Given the description of an element on the screen output the (x, y) to click on. 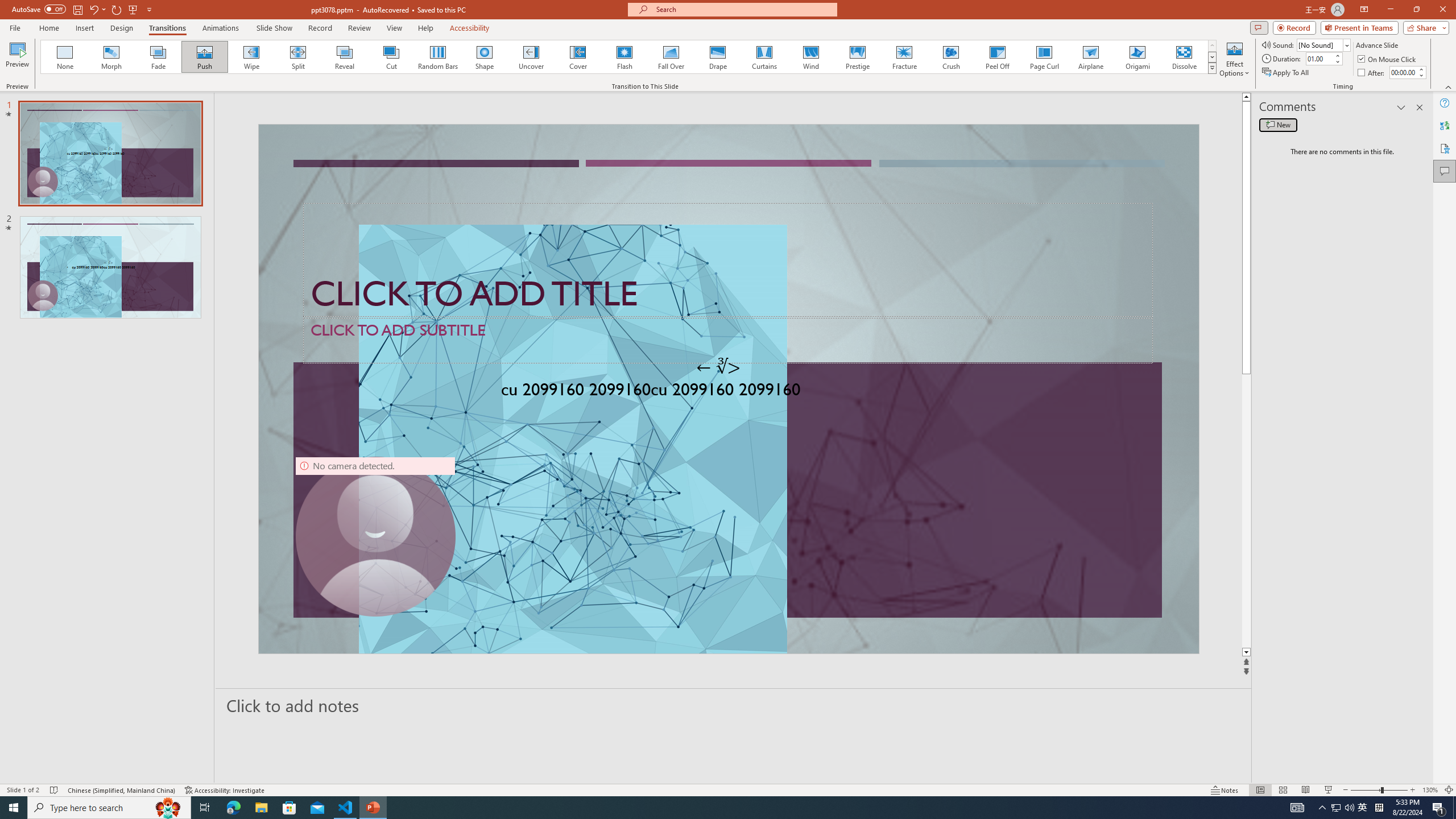
Flash (624, 56)
Zoom 130% (1430, 790)
Peel Off (997, 56)
Effect Options (1234, 58)
